Given the description of an element on the screen output the (x, y) to click on. 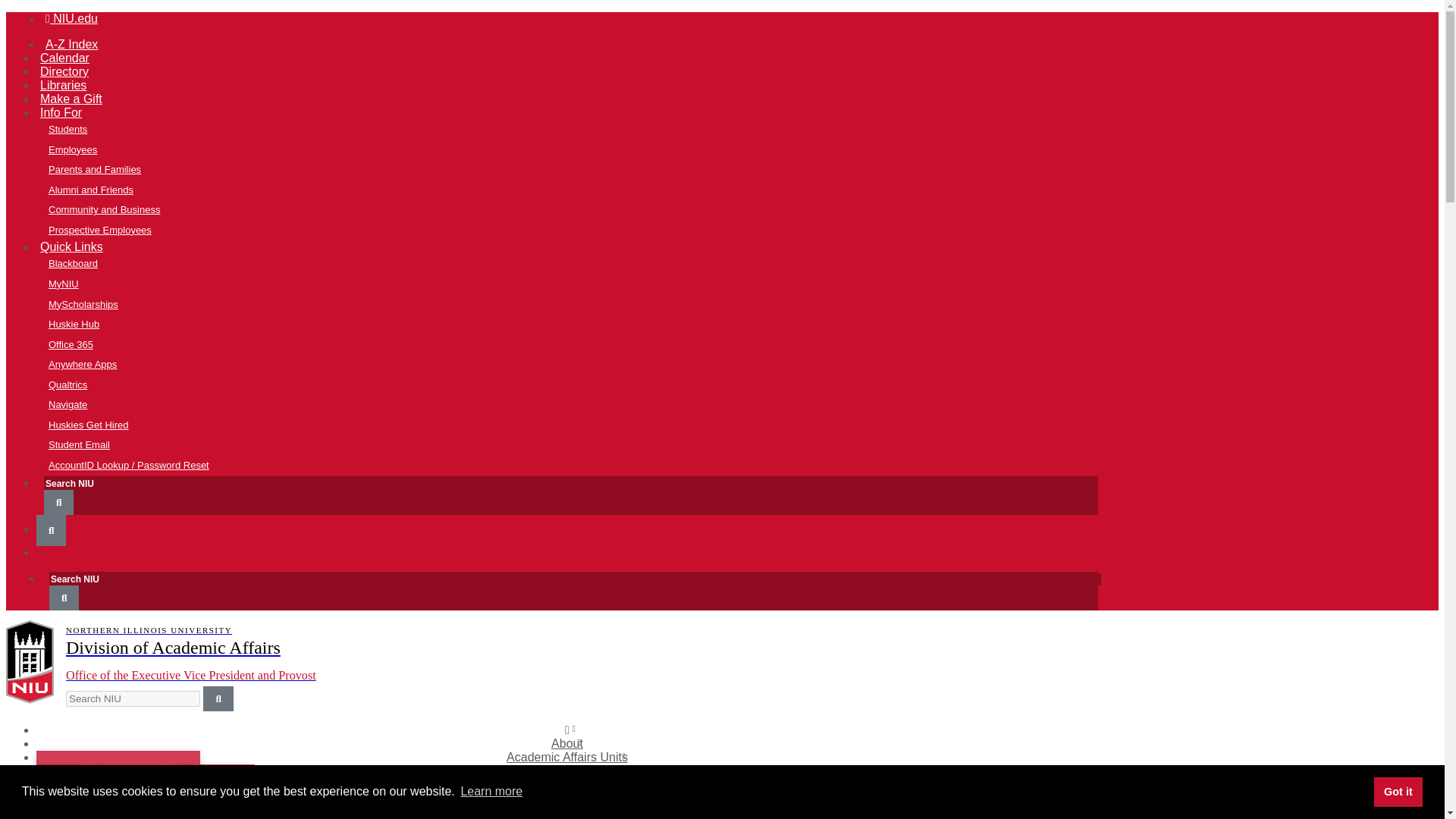
Quick Links (71, 246)
Huskies Get Hired (579, 425)
NIU.edu (71, 18)
Got it (1398, 791)
Qualtrics (579, 385)
Info For (60, 112)
Prospective Employees (579, 230)
TOGGLE SEARCH (58, 502)
Student Email (579, 444)
MyScholarships (579, 304)
About Academic Affairs (130, 768)
Alumni and Friends (579, 190)
Community and Business (579, 209)
A-Z Index (71, 44)
Contact Us (130, 808)
